Given the description of an element on the screen output the (x, y) to click on. 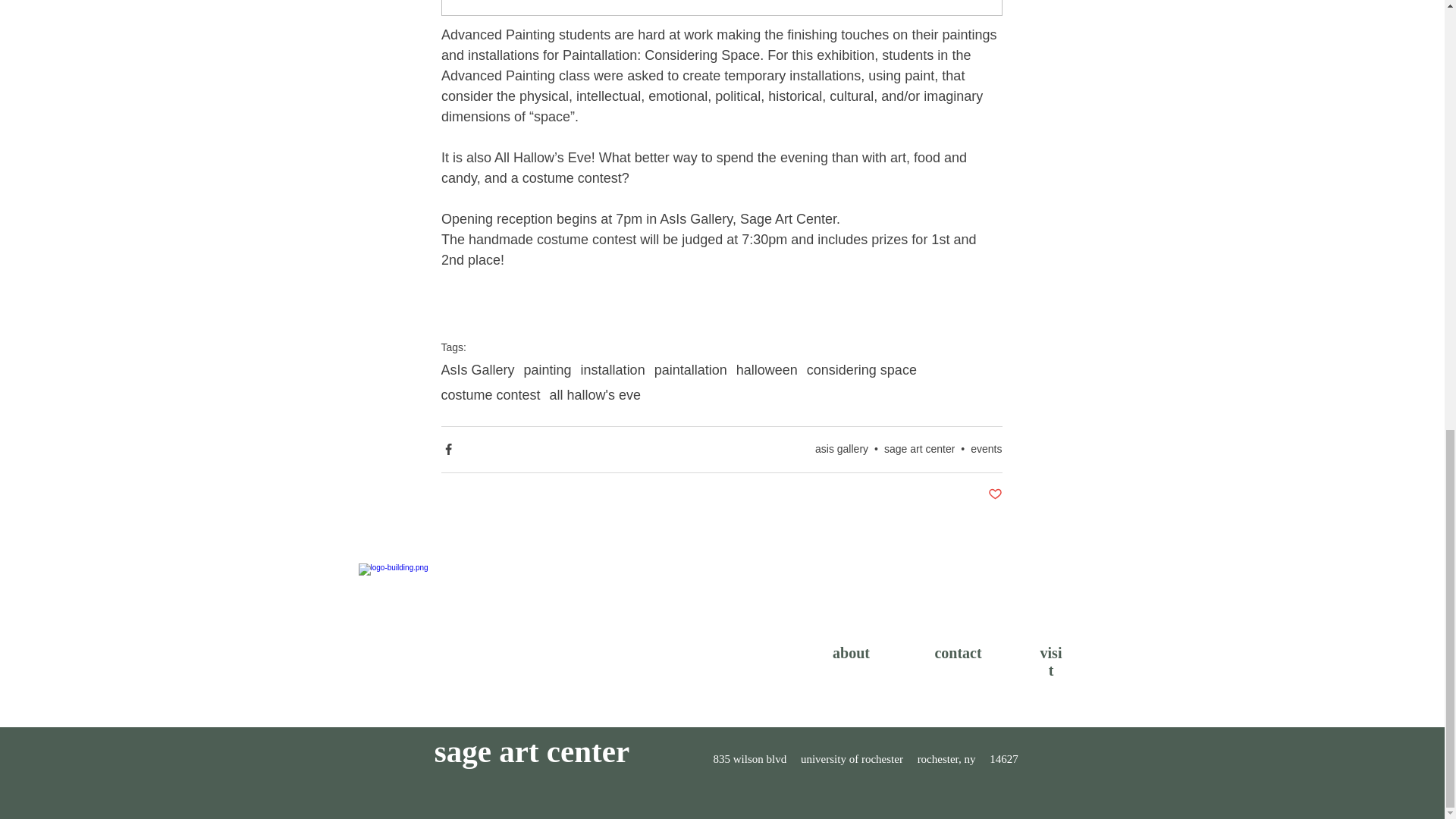
events (986, 449)
installation (612, 370)
painting (548, 370)
all hallow's eve (596, 395)
paintallation (689, 370)
considering space (861, 370)
contact (957, 652)
AsIs Gallery (478, 370)
halloween (766, 370)
about (850, 652)
